Given the description of an element on the screen output the (x, y) to click on. 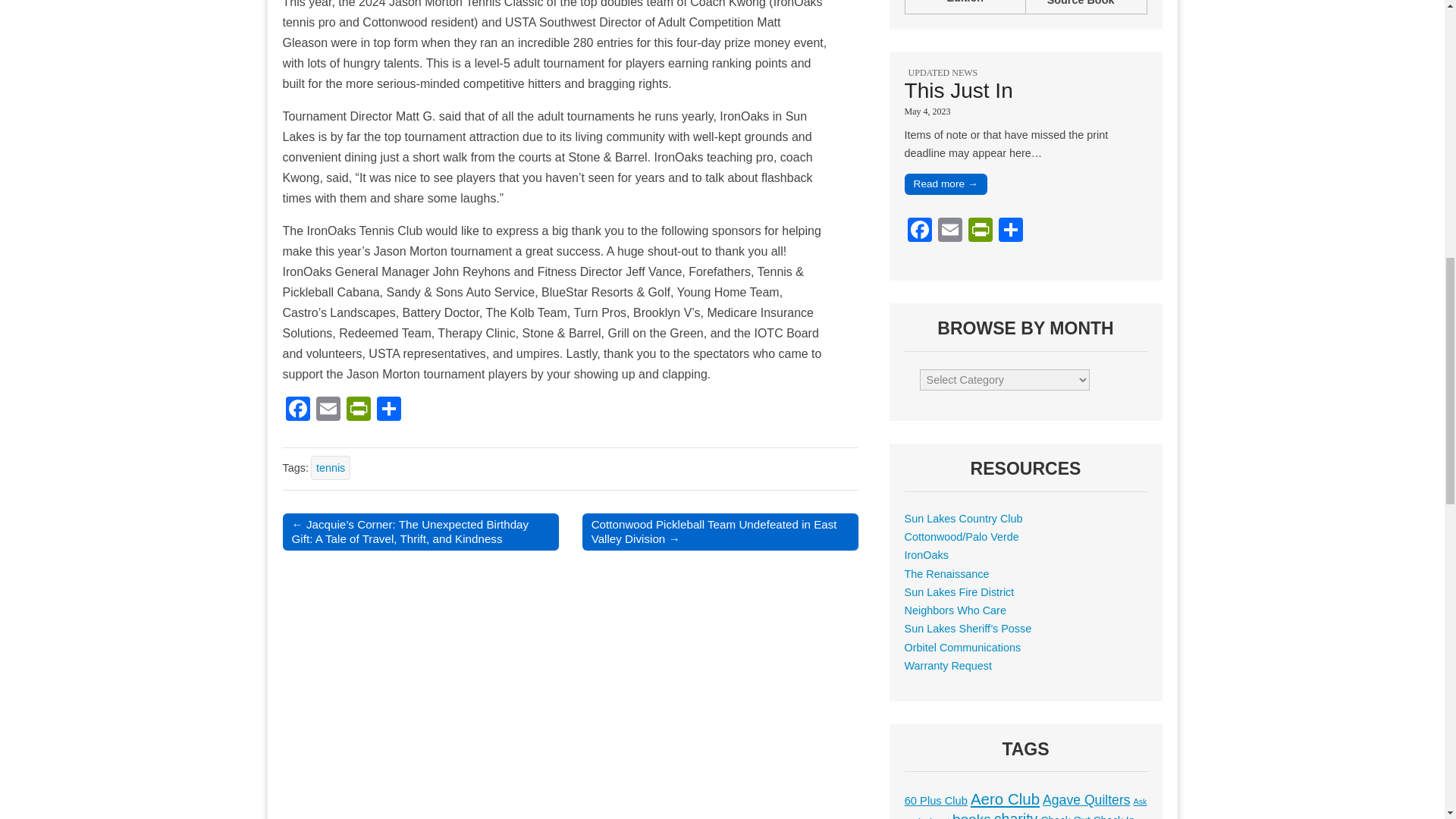
PrintFriendly (357, 410)
Email (949, 231)
Facebook (297, 410)
Email (327, 410)
PrintFriendly (980, 231)
Facebook (919, 231)
